Given the description of an element on the screen output the (x, y) to click on. 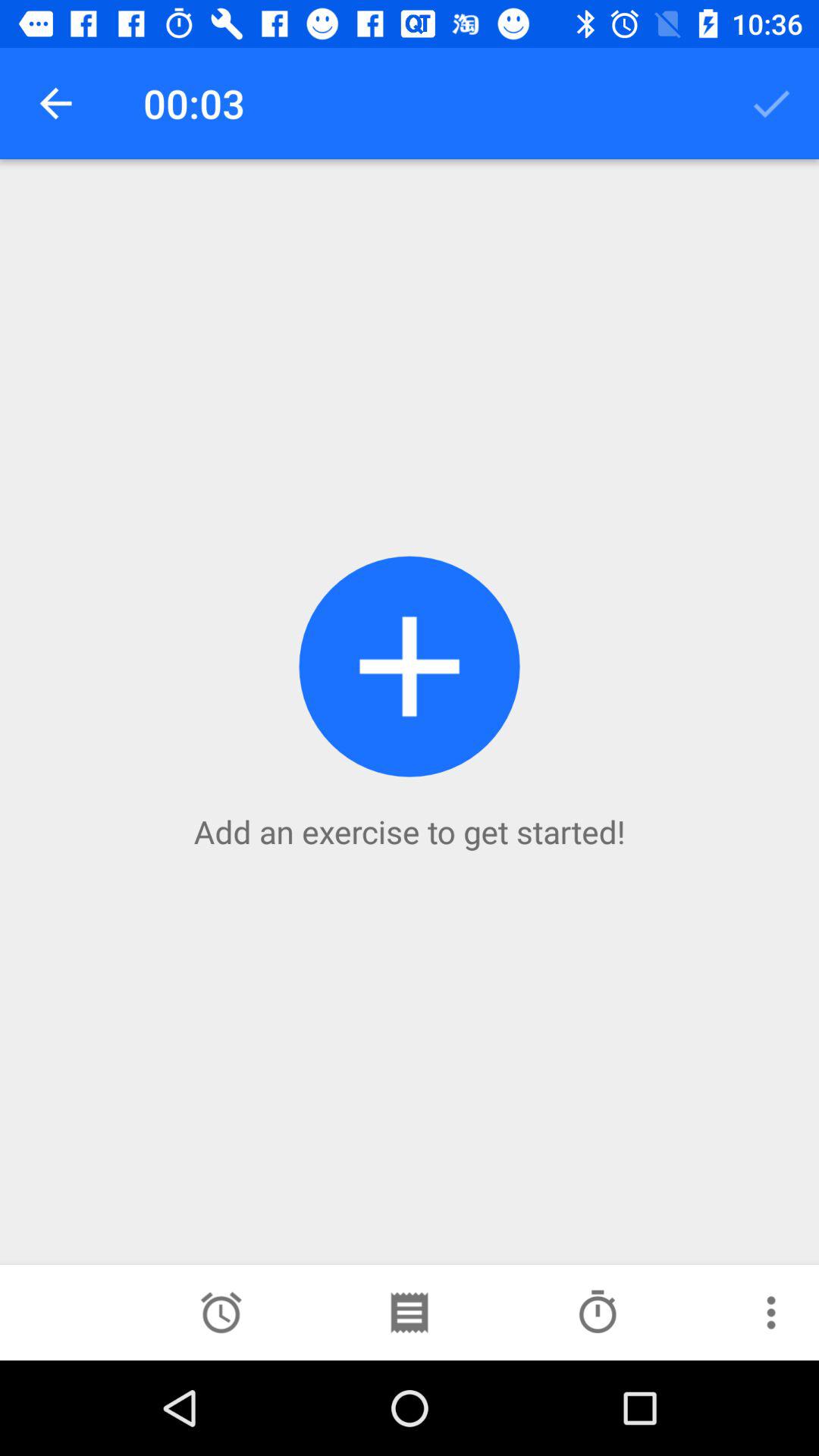
set timer (221, 1312)
